Given the description of an element on the screen output the (x, y) to click on. 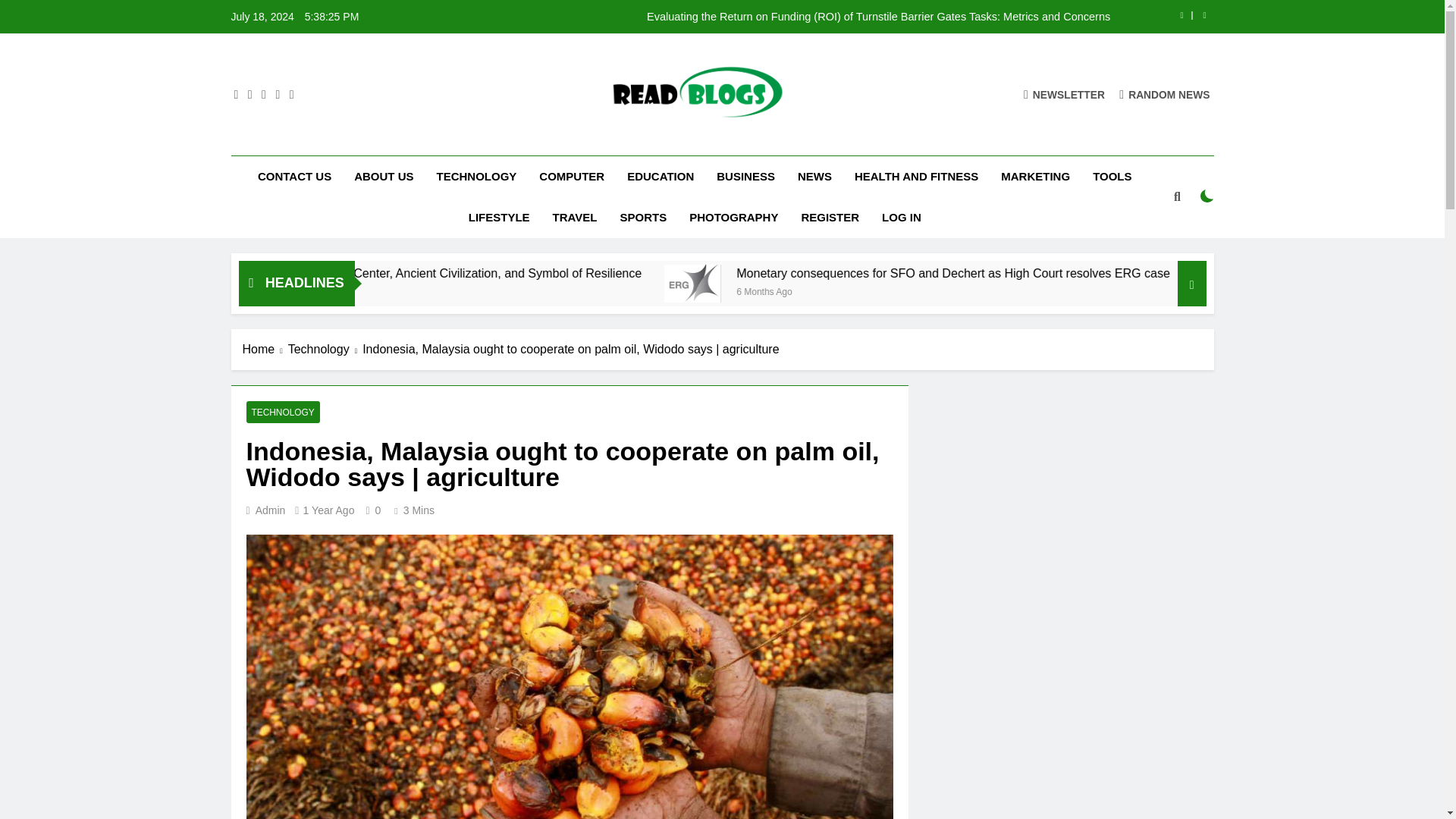
on (1206, 196)
NEWSLETTER (1064, 93)
COMPUTER (571, 176)
BUSINESS (745, 176)
RANDOM NEWS (1164, 93)
EDUCATION (659, 176)
REGISTER (829, 217)
LIFESTYLE (499, 217)
CONTACT US (294, 176)
NEWS (814, 176)
HEALTH AND FITNESS (916, 176)
LOG IN (901, 217)
SPORTS (643, 217)
TOOLS (1111, 176)
